Given the description of an element on the screen output the (x, y) to click on. 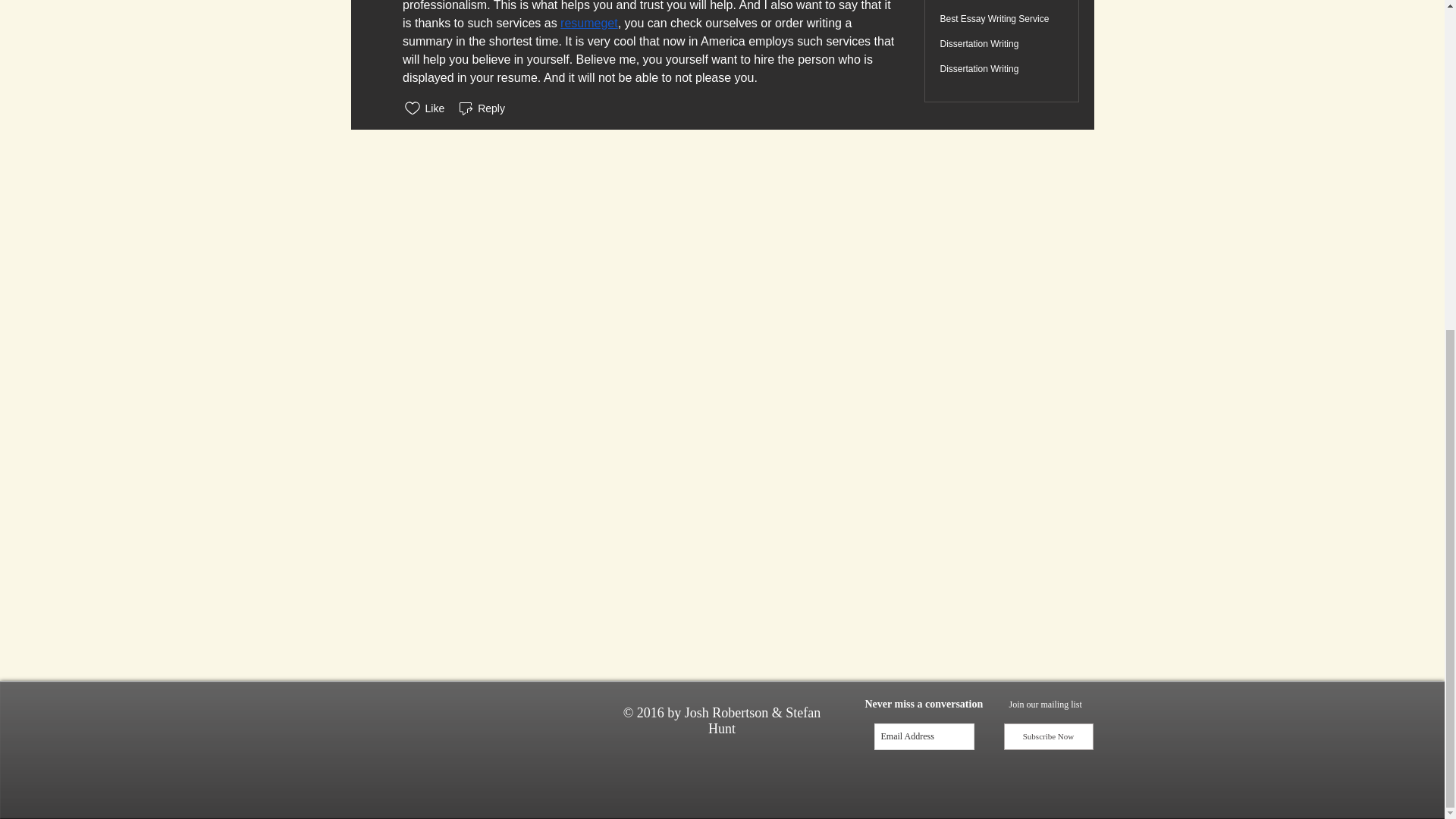
Subscribe Now (1048, 736)
Reply (481, 108)
resumeget (588, 22)
